Given the description of an element on the screen output the (x, y) to click on. 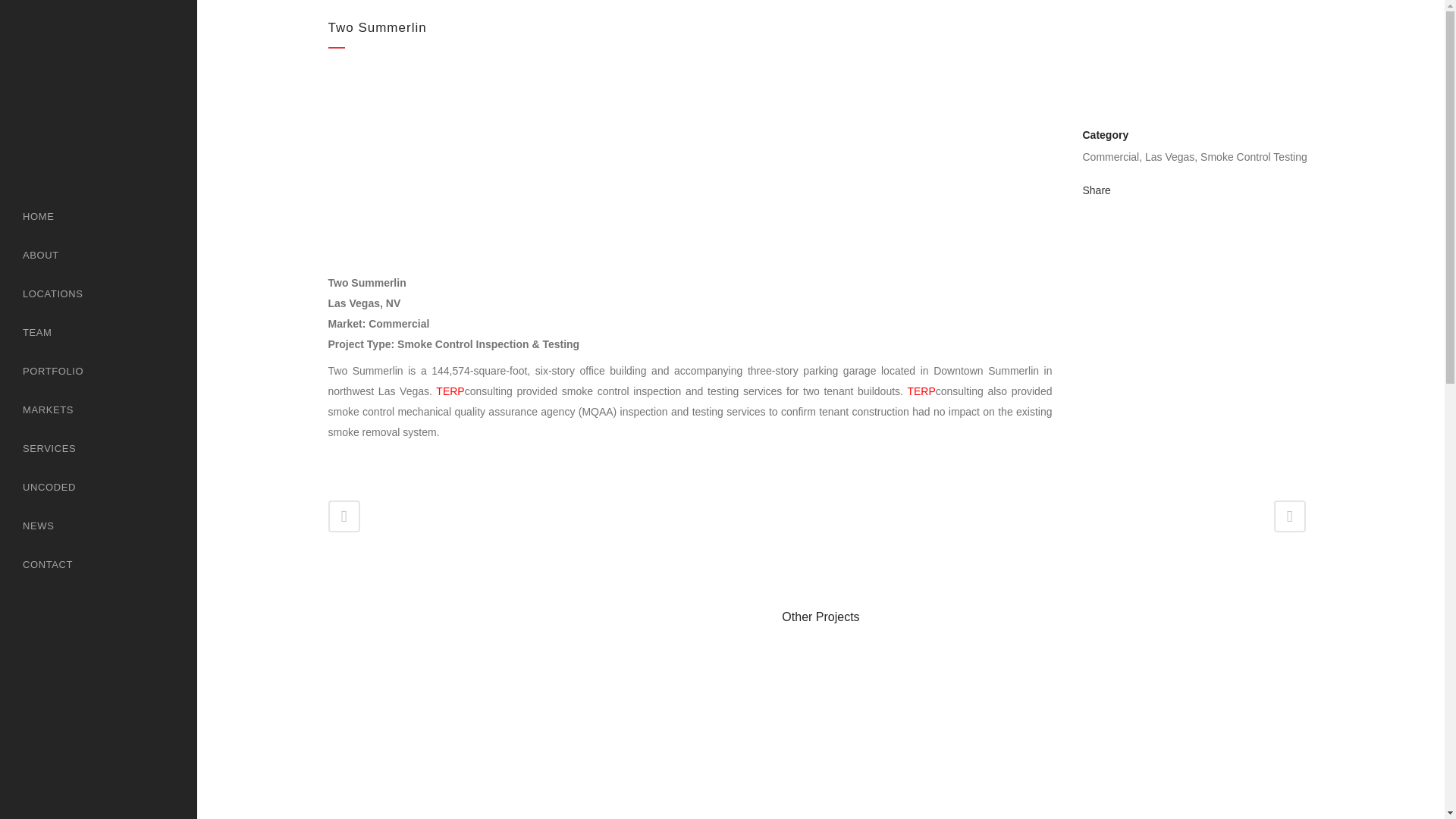
UNCODED (98, 486)
NEWS (98, 525)
Share (1096, 190)
SERVICES (98, 448)
TEAM (98, 332)
CONTACT (98, 564)
MARKETS (98, 409)
PORTFOLIO (98, 371)
HOME (98, 216)
LOCATIONS (98, 293)
ABOUT (98, 254)
